Given the description of an element on the screen output the (x, y) to click on. 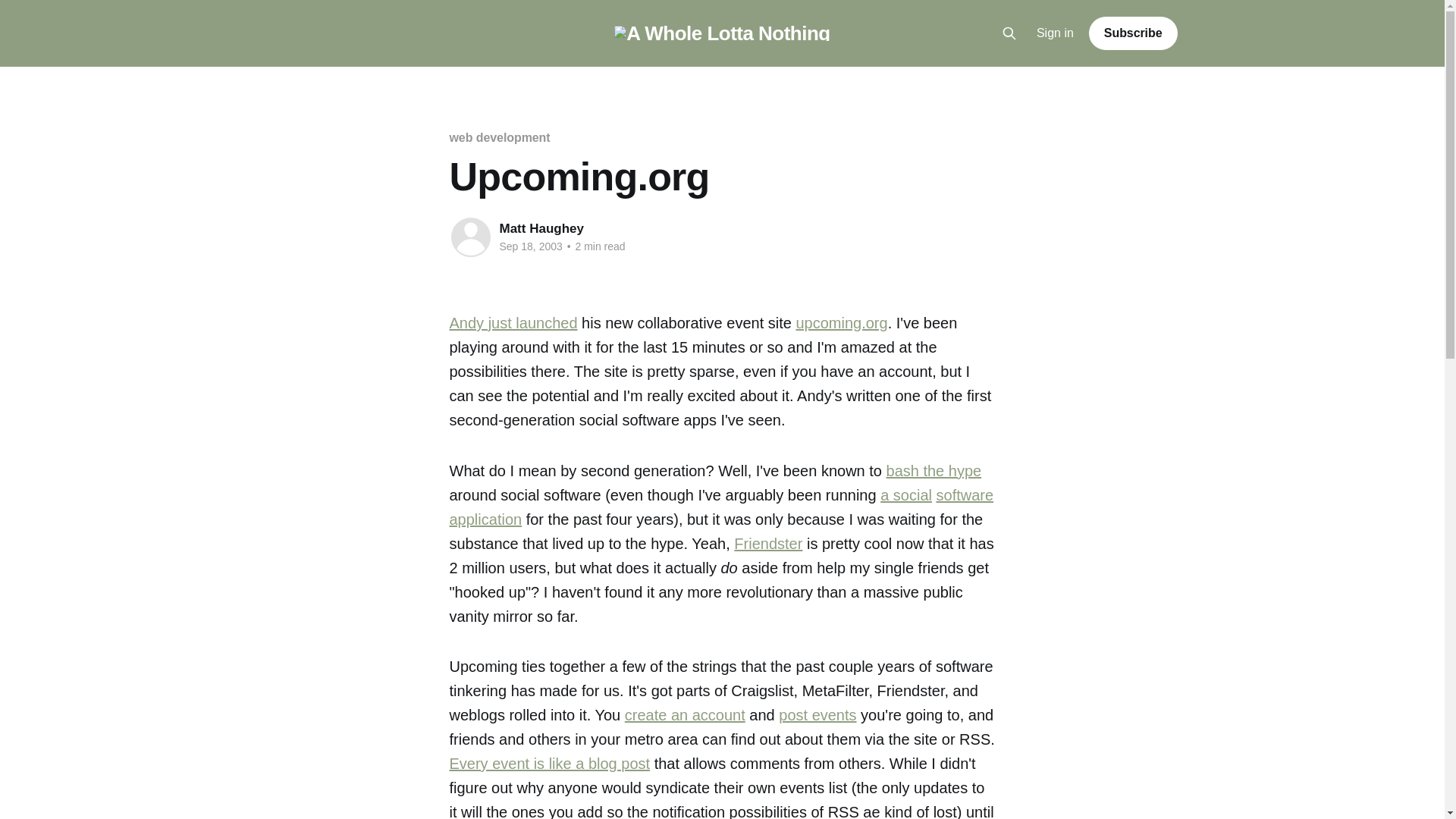
upcoming.org (840, 322)
Friendster (767, 543)
application (484, 519)
Every event is like a blog post (548, 763)
a social (905, 494)
Matt Haughey (541, 228)
bash the hype (933, 470)
Sign in (1055, 33)
web development (499, 137)
post events (817, 714)
